Given the description of an element on the screen output the (x, y) to click on. 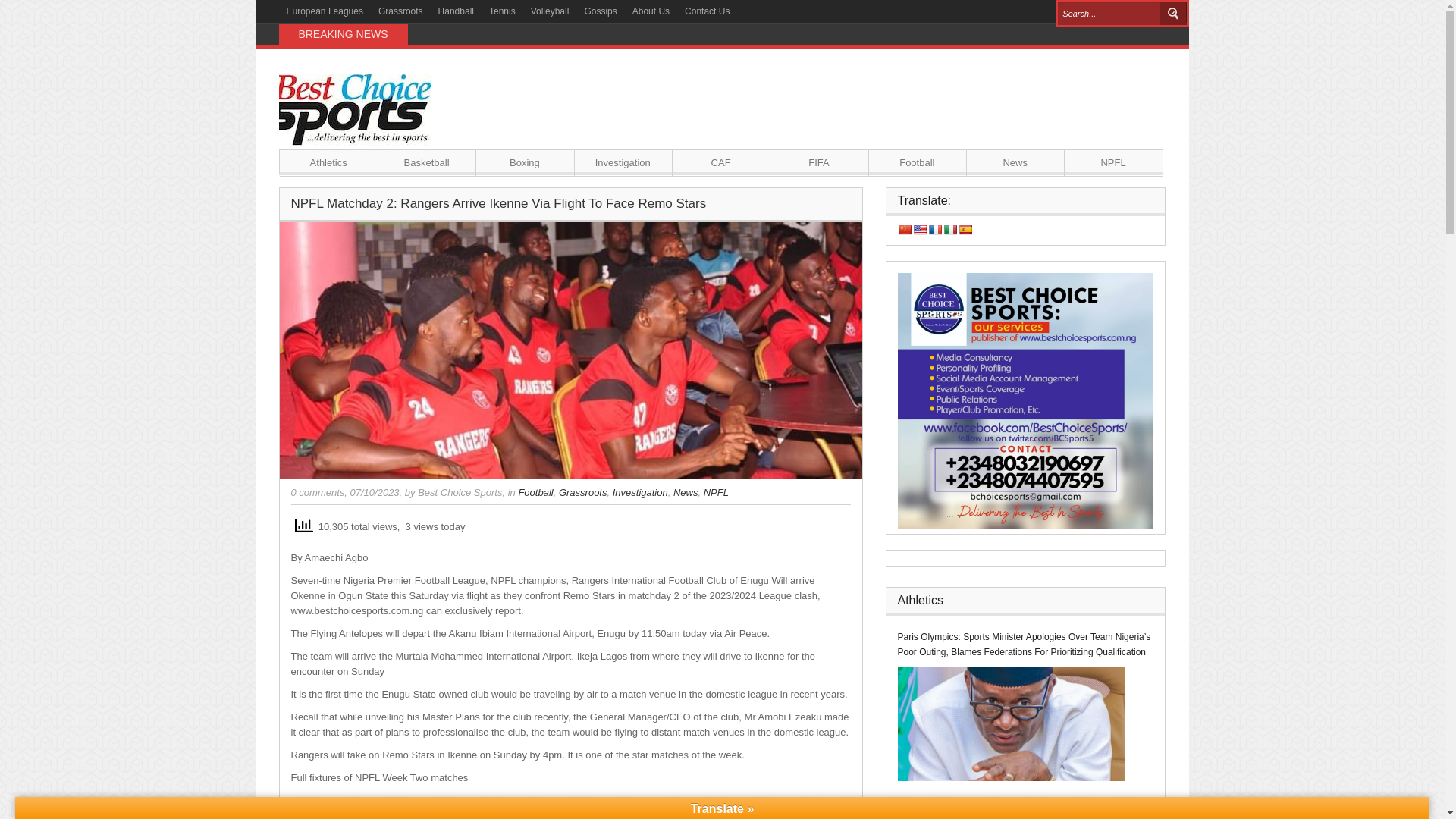
Gossips (600, 11)
FIFA (818, 162)
Italian (949, 229)
Basketball (426, 162)
Spanish (965, 229)
Grassroots (583, 491)
Athletics (328, 162)
Investigation (640, 491)
About Us (650, 11)
Best Choice Sports (459, 491)
